Given the description of an element on the screen output the (x, y) to click on. 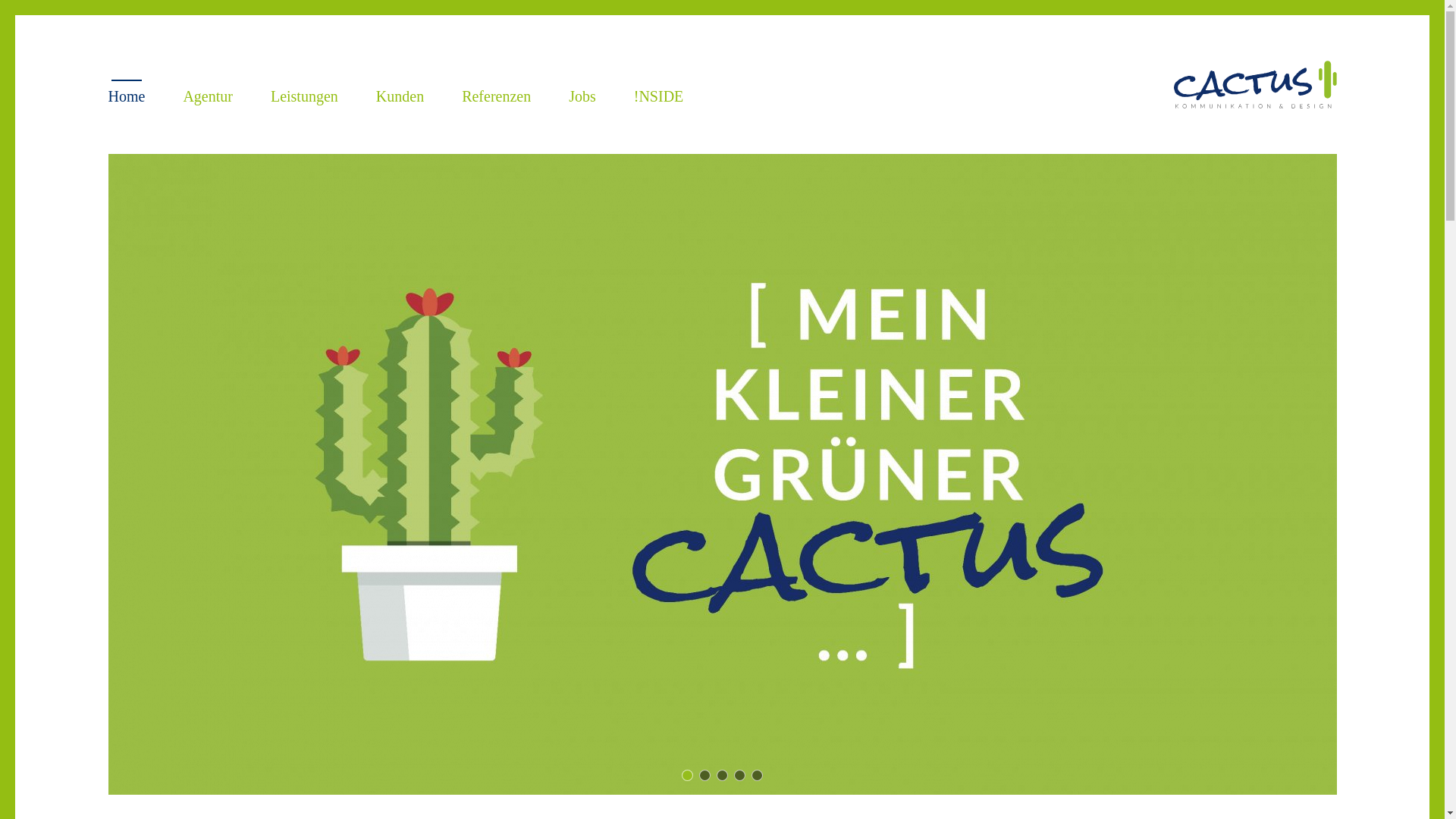
!NSIDE Element type: text (658, 93)
Jobs Element type: text (582, 93)
Home Element type: text (126, 93)
Agentur Element type: text (207, 93)
Referenzen Element type: text (495, 93)
Leistungen Element type: text (304, 93)
Kunden Element type: text (399, 93)
